Given the description of an element on the screen output the (x, y) to click on. 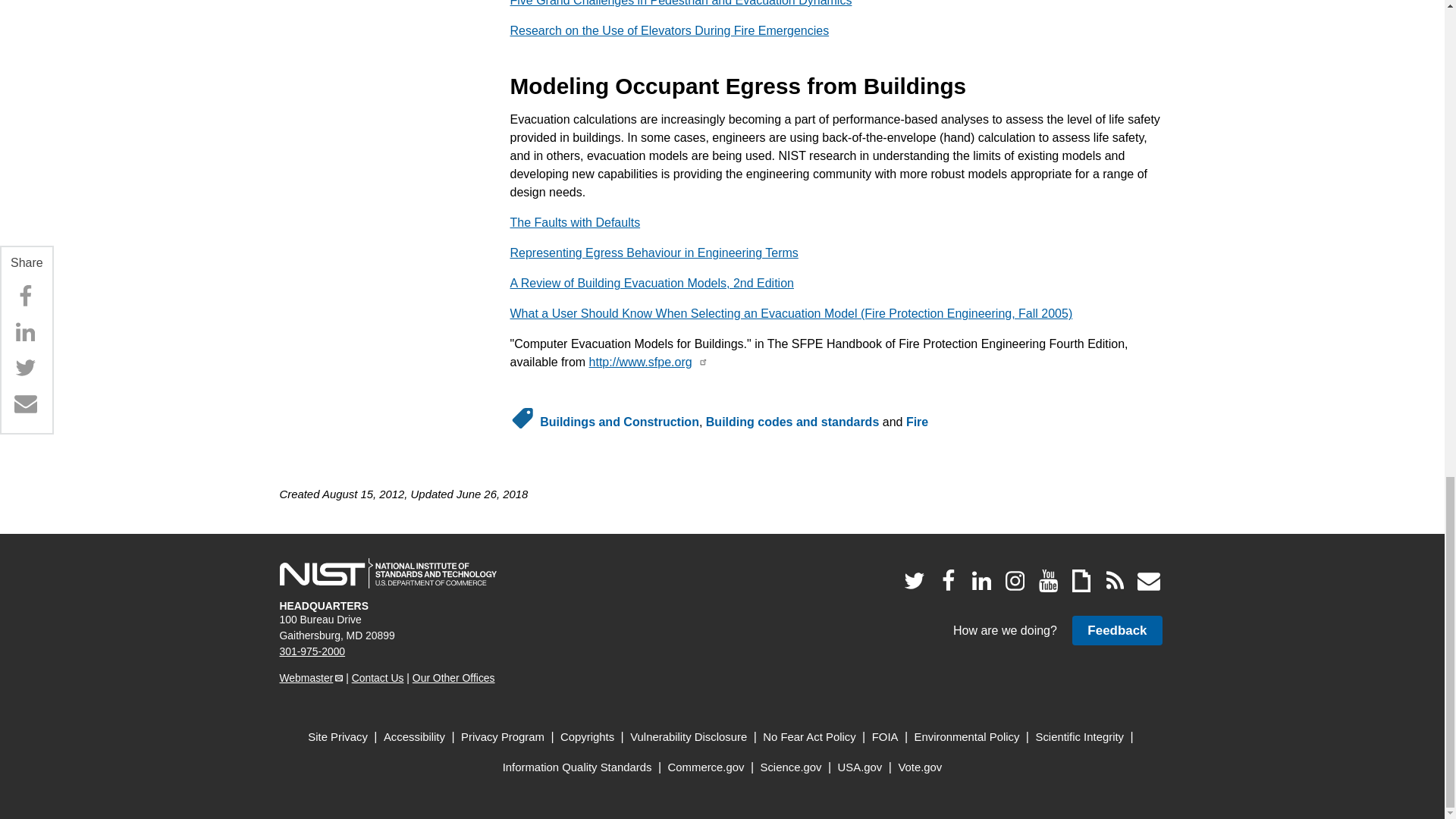
Representing Egress Behaviour in Engineering Terms (653, 252)
Research on the Use of Elevators During Fire Emergencies (668, 30)
National Institute of Standards and Technology (387, 572)
Five Grand Challenges in Pedestrian and Evacuation Dynamics (680, 3)
The Faults with Defaults (574, 222)
Provide feedback (1116, 630)
